Given the description of an element on the screen output the (x, y) to click on. 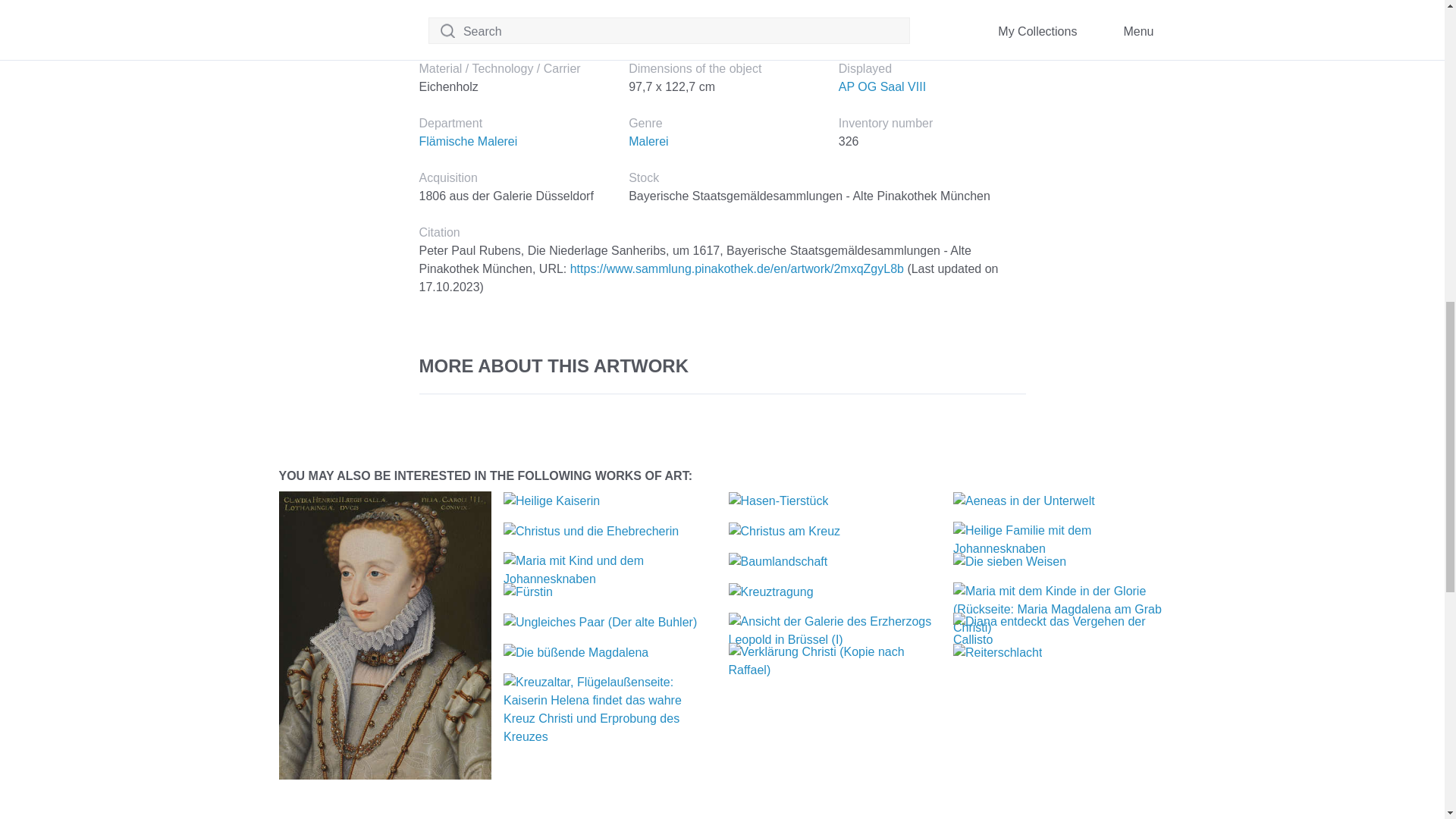
MORE ABOUT THIS ARTWORK (722, 366)
Malerei (648, 141)
AP OG Saal VIII (882, 86)
